Given the description of an element on the screen output the (x, y) to click on. 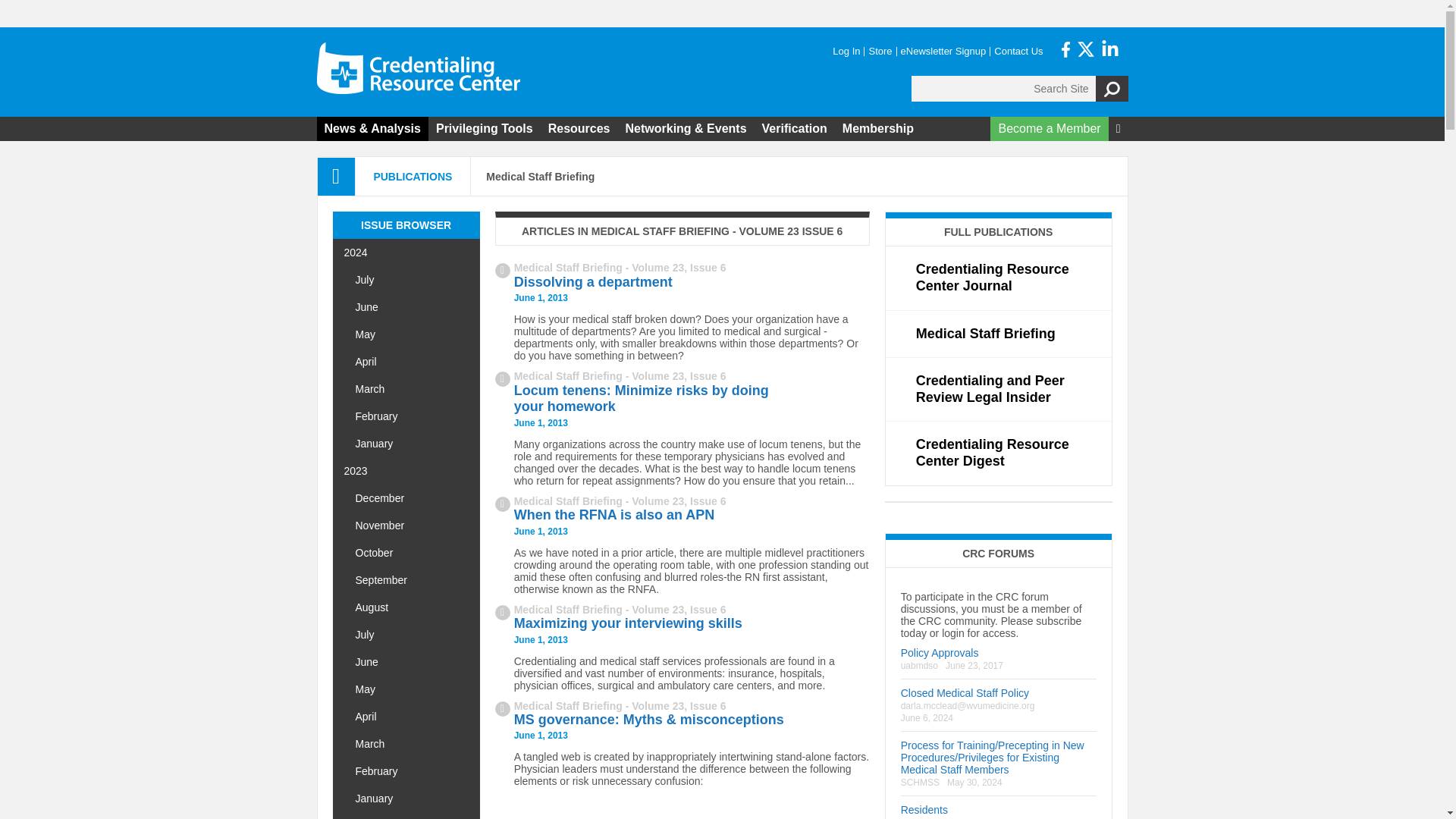
Home (418, 68)
Resources (578, 128)
eNewsletter Signup (943, 51)
Store (880, 51)
Enter the terms you wish to search for. (1003, 88)
Membership (877, 128)
Contact Us (1018, 51)
Privileging Tools (484, 128)
Become a Member (1049, 128)
Verification (794, 128)
Log In (846, 51)
